Given the description of an element on the screen output the (x, y) to click on. 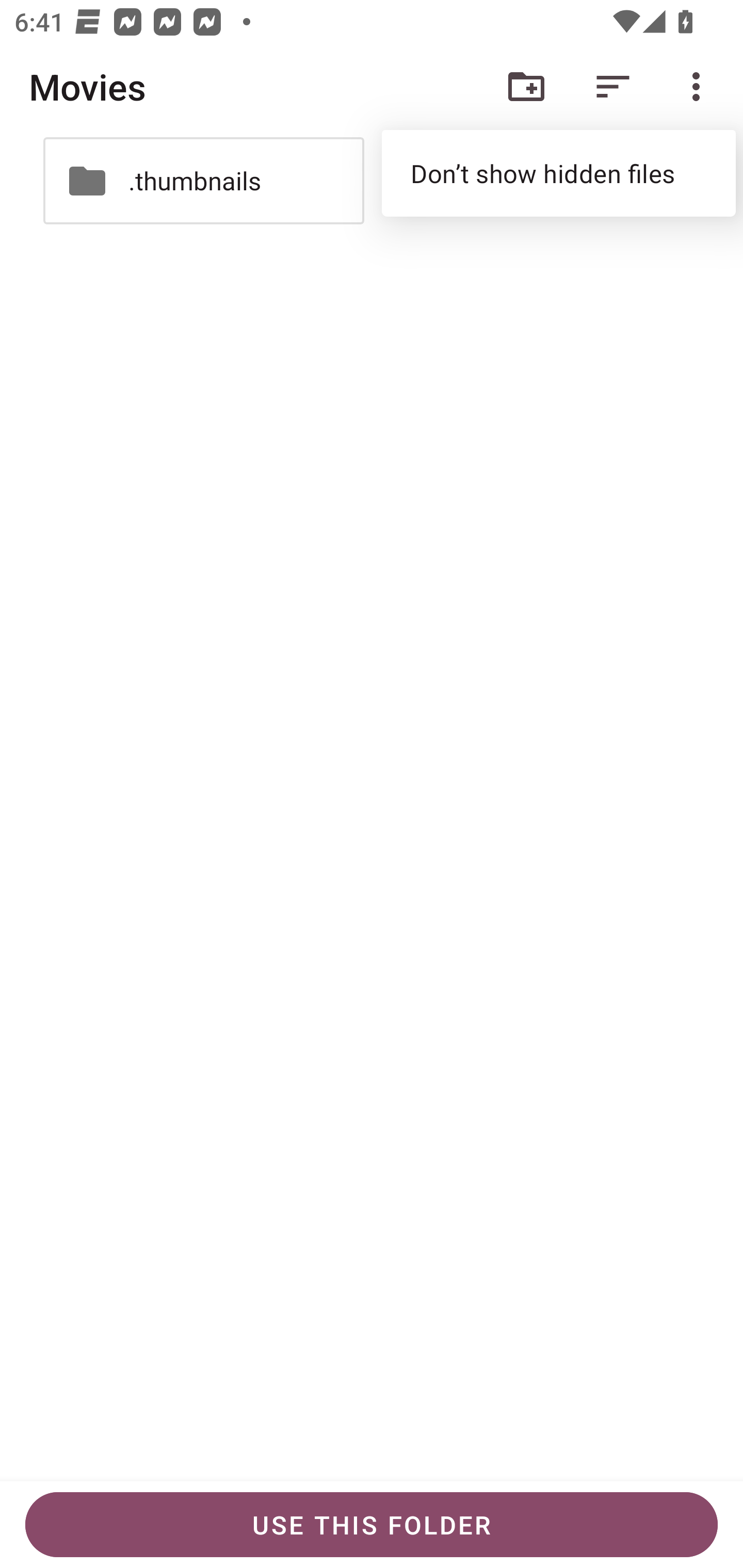
Don’t show hidden files (558, 173)
